Given the description of an element on the screen output the (x, y) to click on. 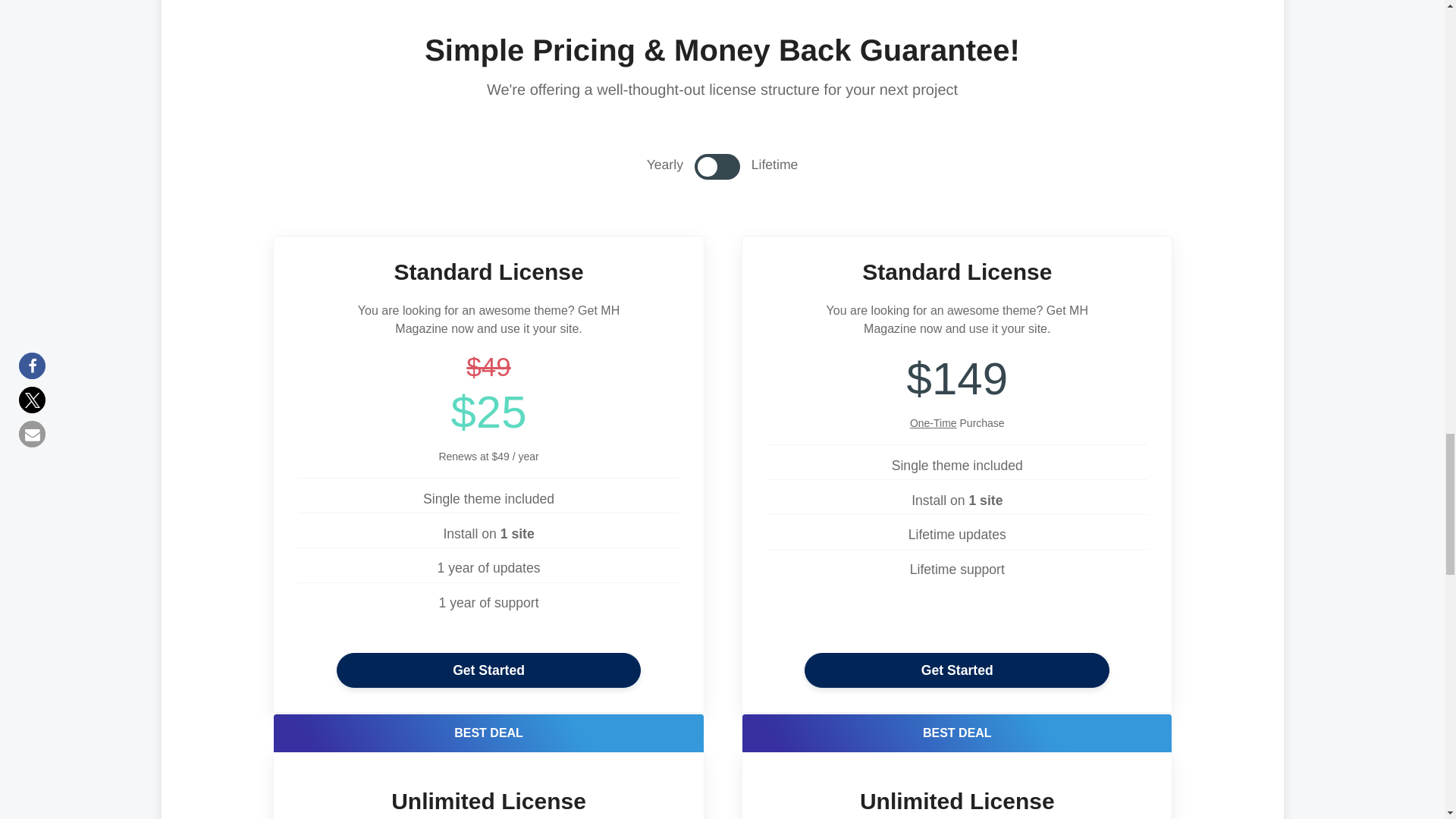
Get Started (489, 669)
Get Started (957, 669)
